Given the description of an element on the screen output the (x, y) to click on. 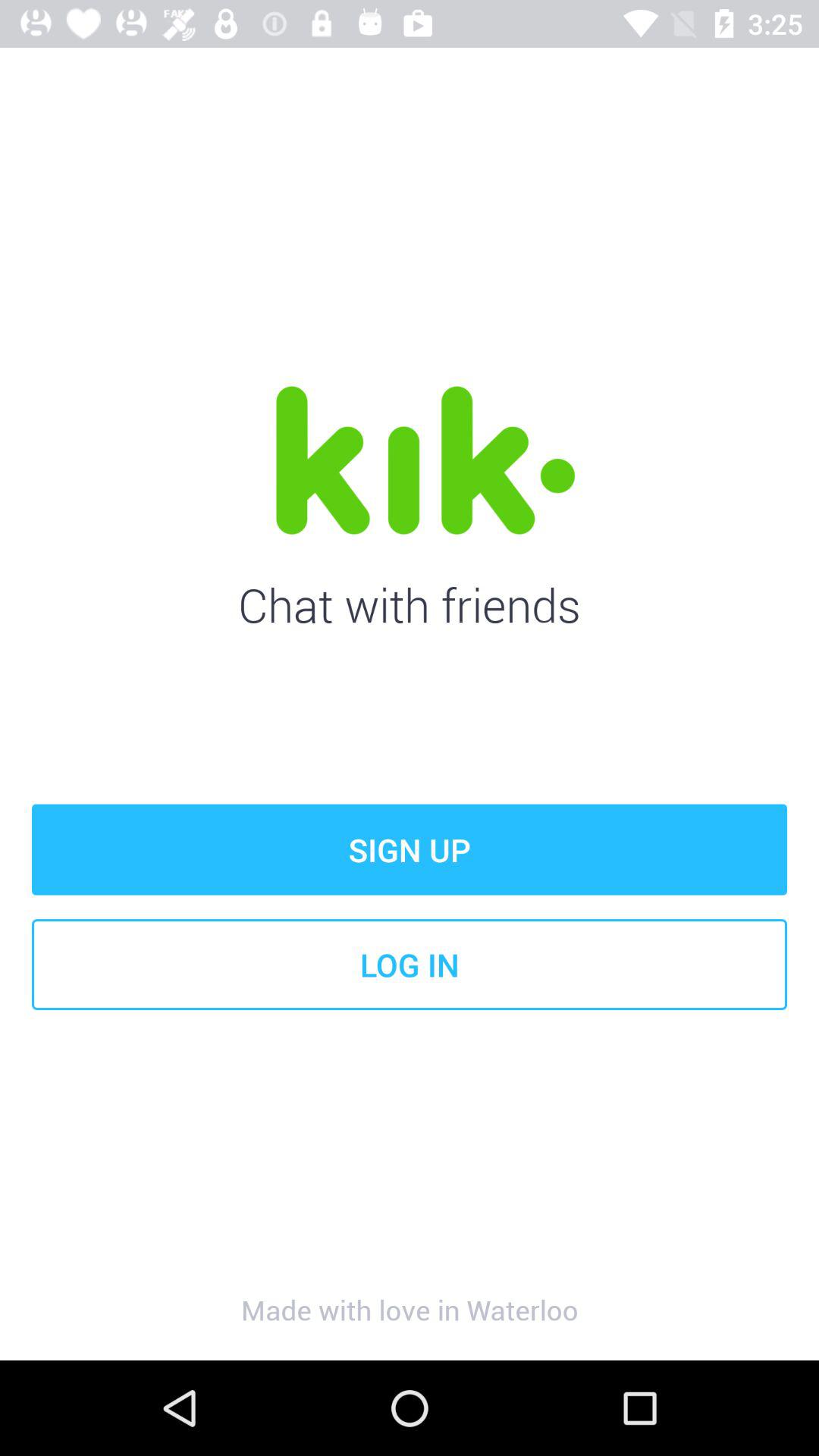
open the sign up icon (409, 849)
